Given the description of an element on the screen output the (x, y) to click on. 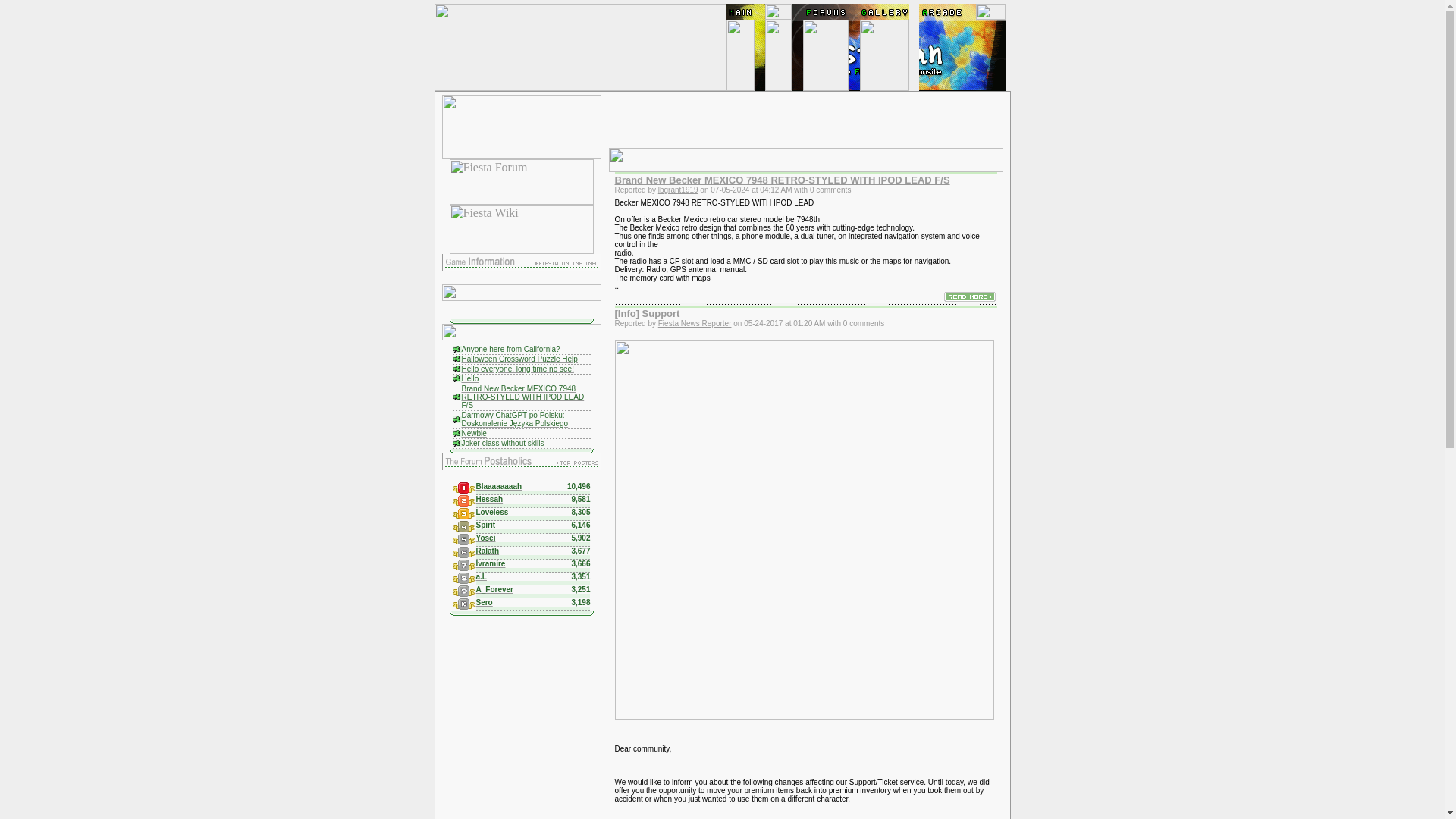
Ivramire (490, 562)
Hello everyone, long time no see! (517, 367)
Anyone here from California? (510, 347)
lbgrant1919 (678, 188)
Fiesta News Reporter (695, 322)
Loveless (492, 510)
Newbie (473, 431)
Blaaaaaaaah (499, 484)
Sero (484, 600)
Spirit (486, 522)
